Given the description of an element on the screen output the (x, y) to click on. 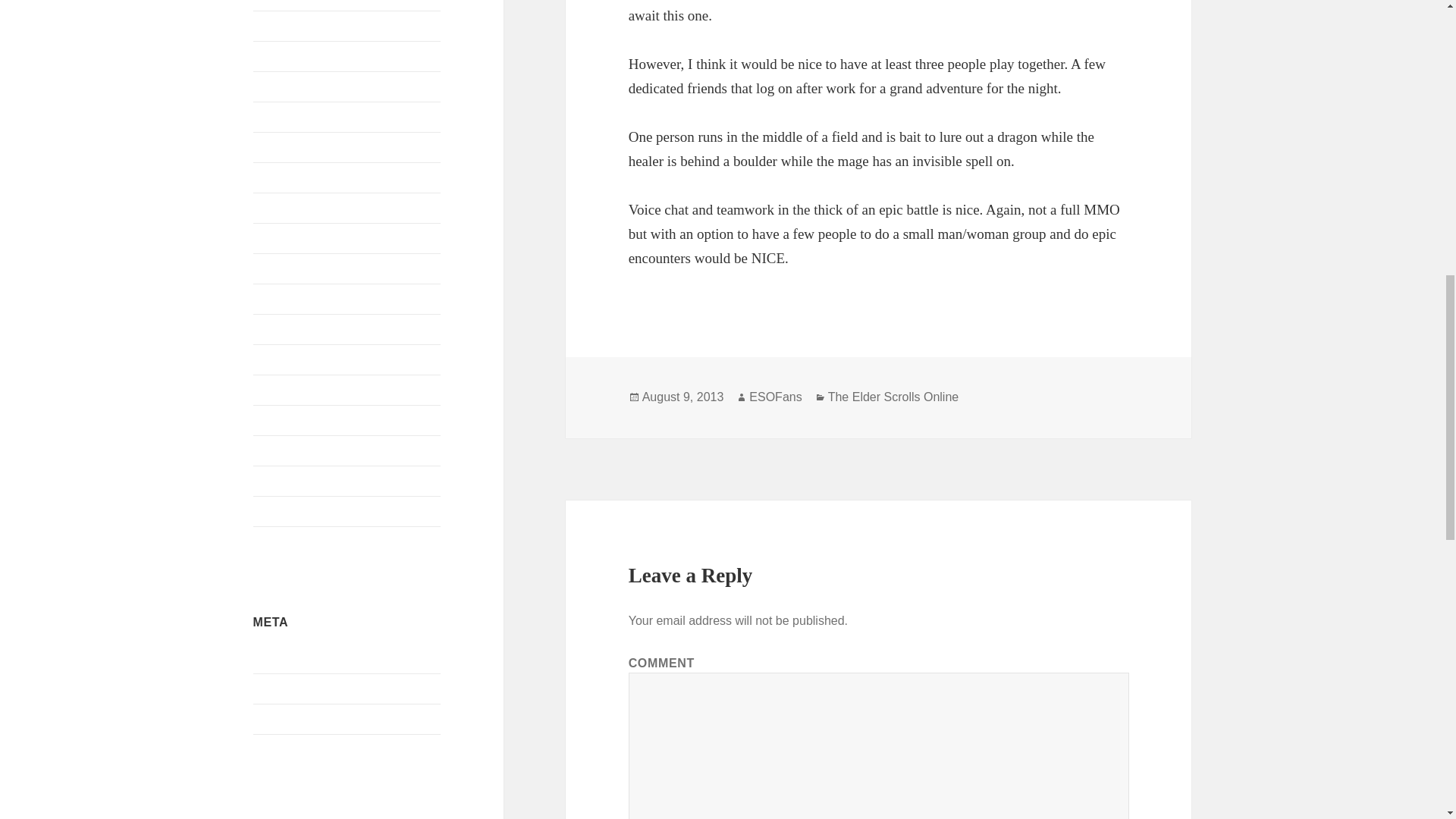
Path of Exile (285, 358)
Log in (269, 658)
MLB The Show (292, 237)
Fallout 76 (277, 55)
Phantasy Star Online 2: New Genesis (344, 389)
Diablo 4 (274, 24)
Maplestory 2 (285, 206)
The Elder Scrolls Online (313, 449)
Sitemap (272, 718)
Destiny 2 (276, 0)
